Given the description of an element on the screen output the (x, y) to click on. 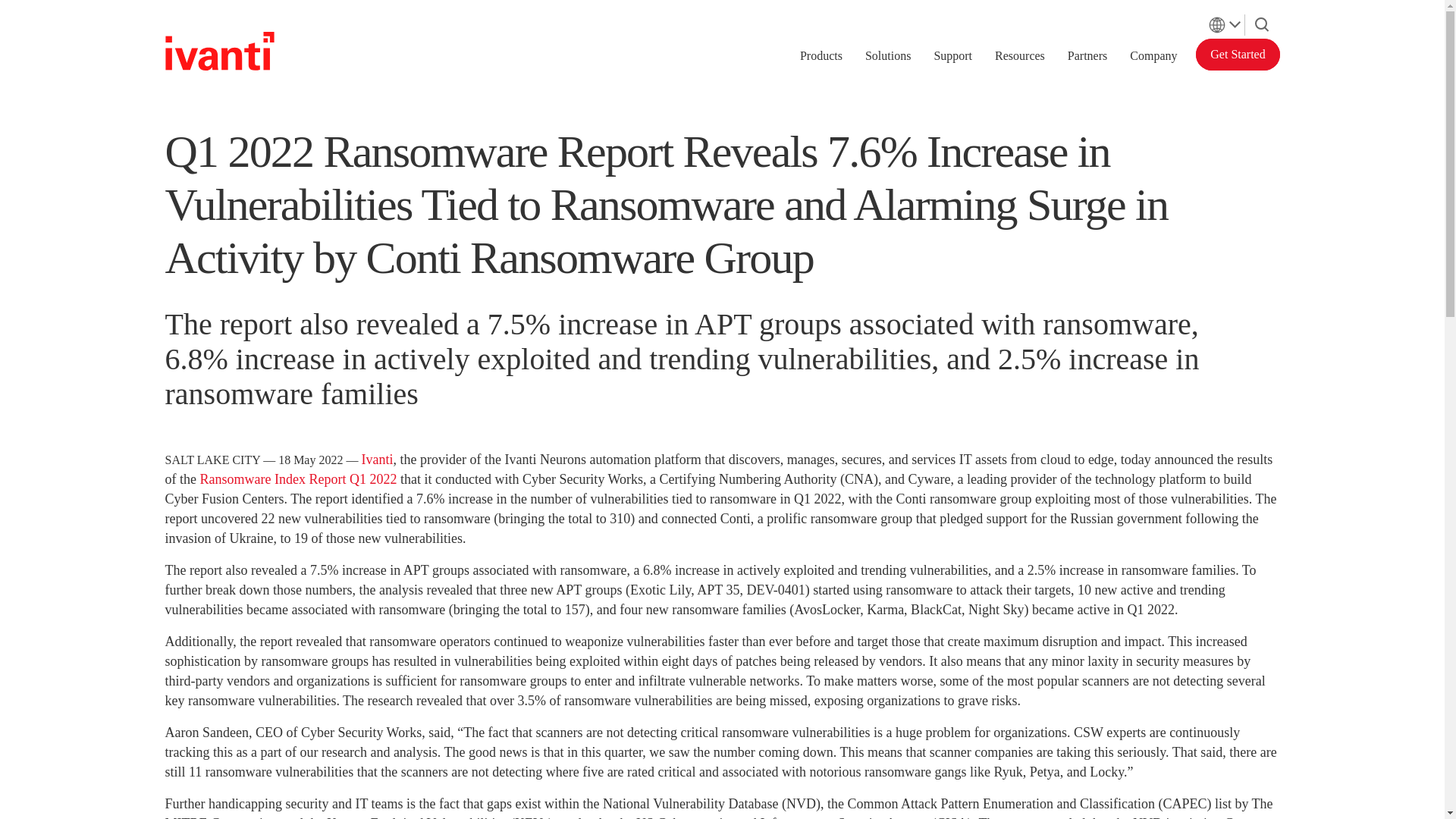
Search (1262, 24)
Search (1261, 22)
